Given the description of an element on the screen output the (x, y) to click on. 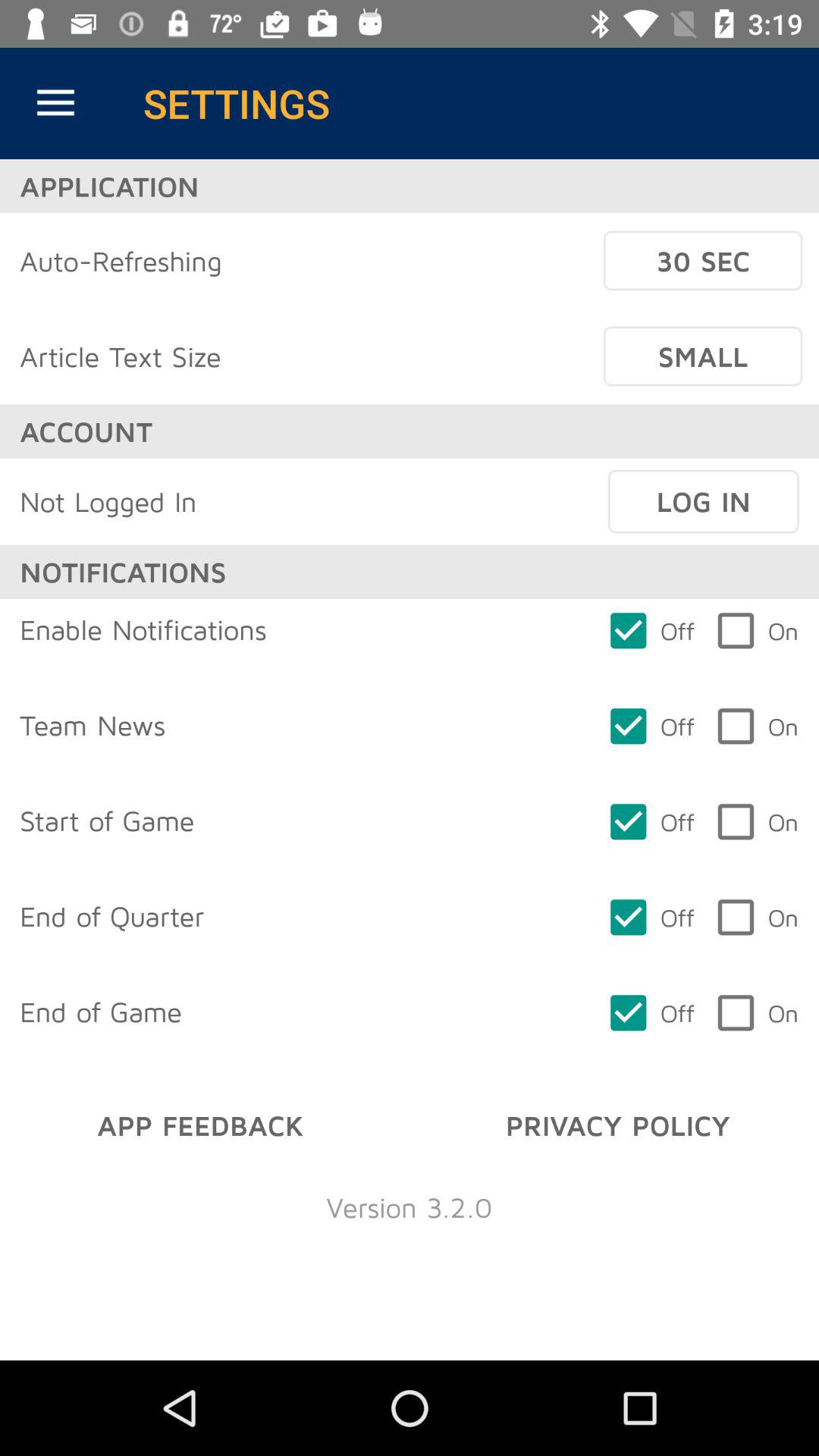
click item to the left of settings icon (55, 103)
